Given the description of an element on the screen output the (x, y) to click on. 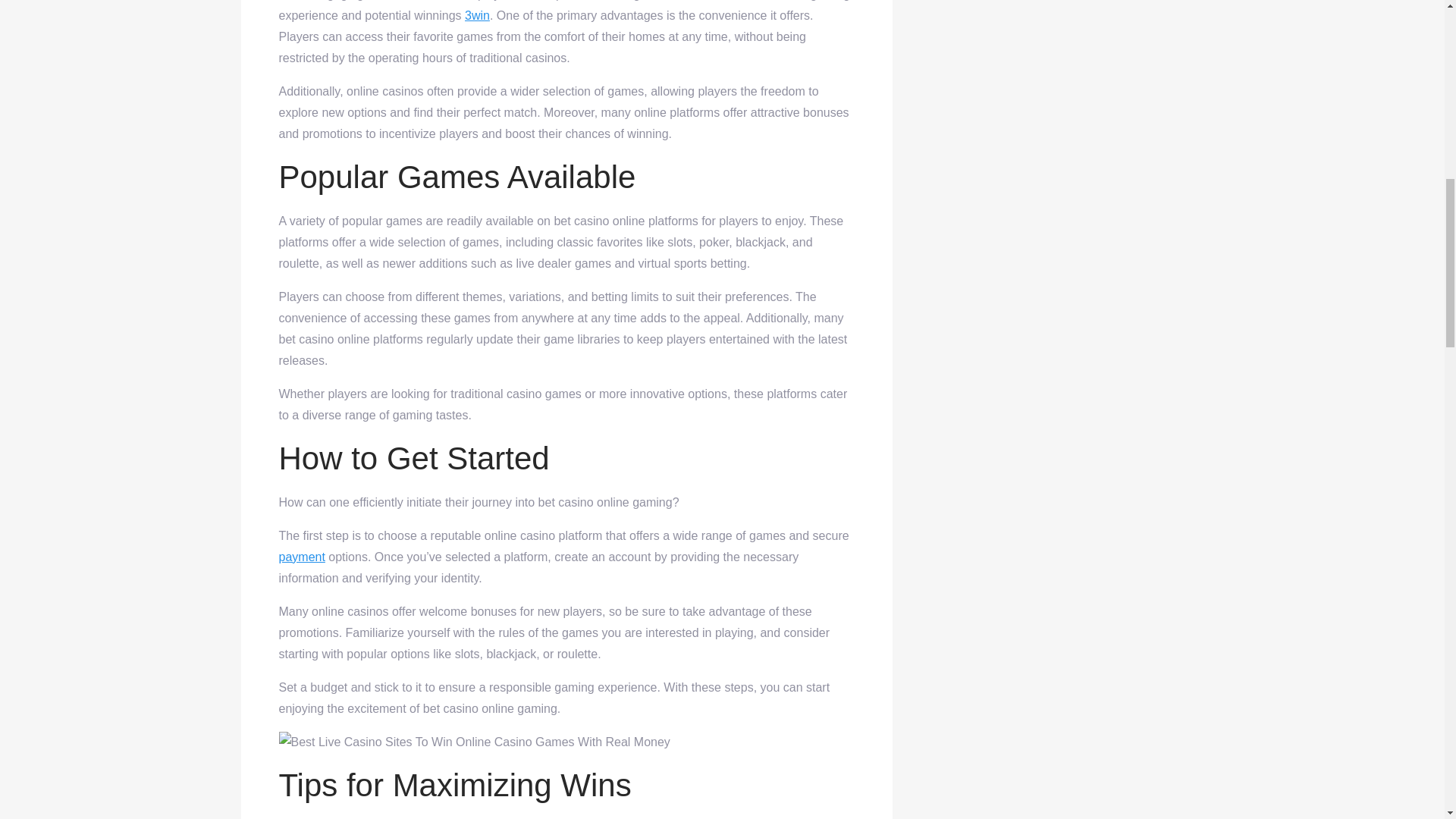
3win (476, 15)
payment (301, 556)
